Given the description of an element on the screen output the (x, y) to click on. 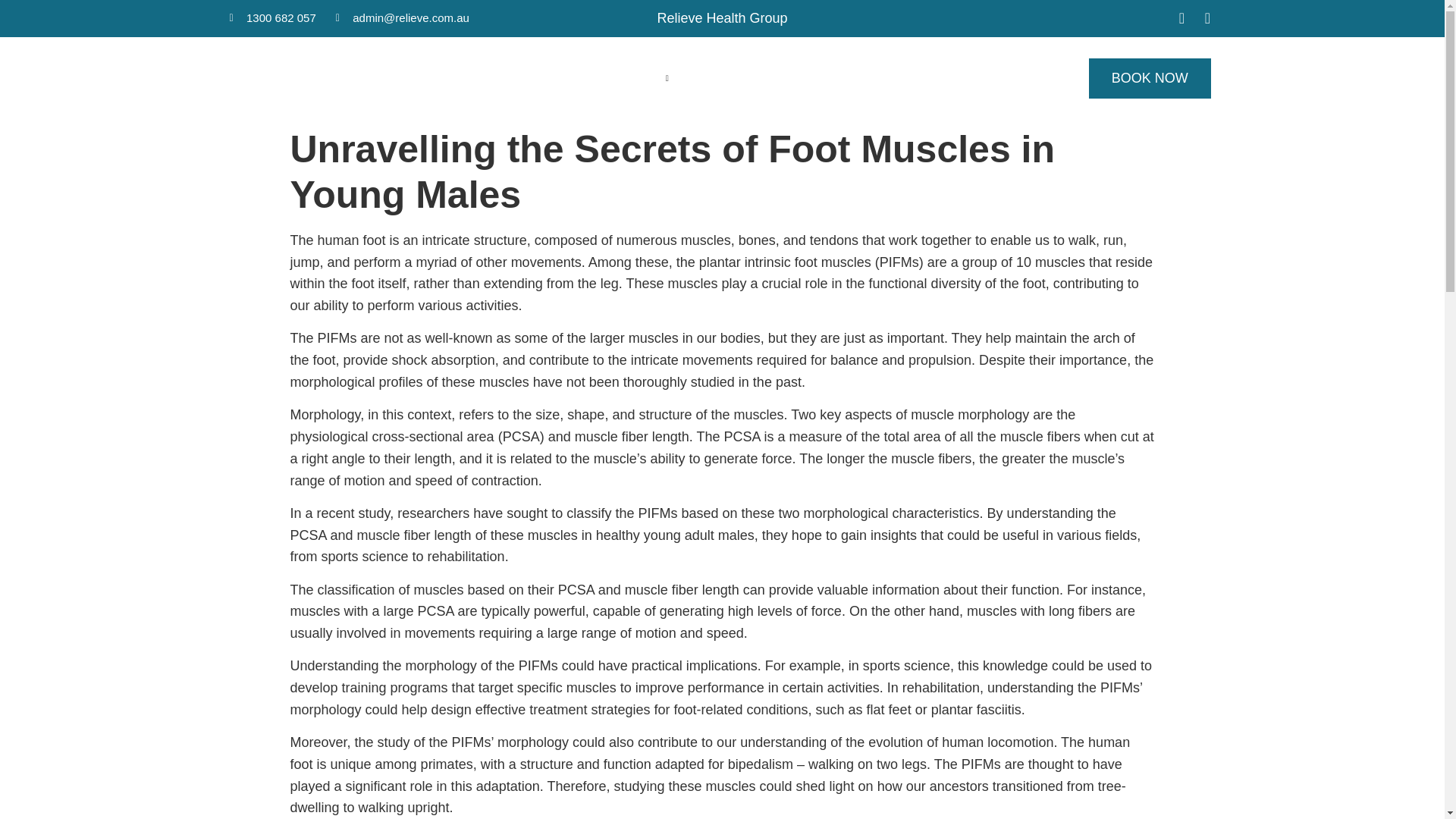
About (575, 78)
Contact Us (883, 78)
Refer A Patient (980, 78)
BOOK NOW (1150, 78)
Surgery (646, 78)
Education (800, 78)
Podiatry (723, 78)
Home (515, 78)
